Given the description of an element on the screen output the (x, y) to click on. 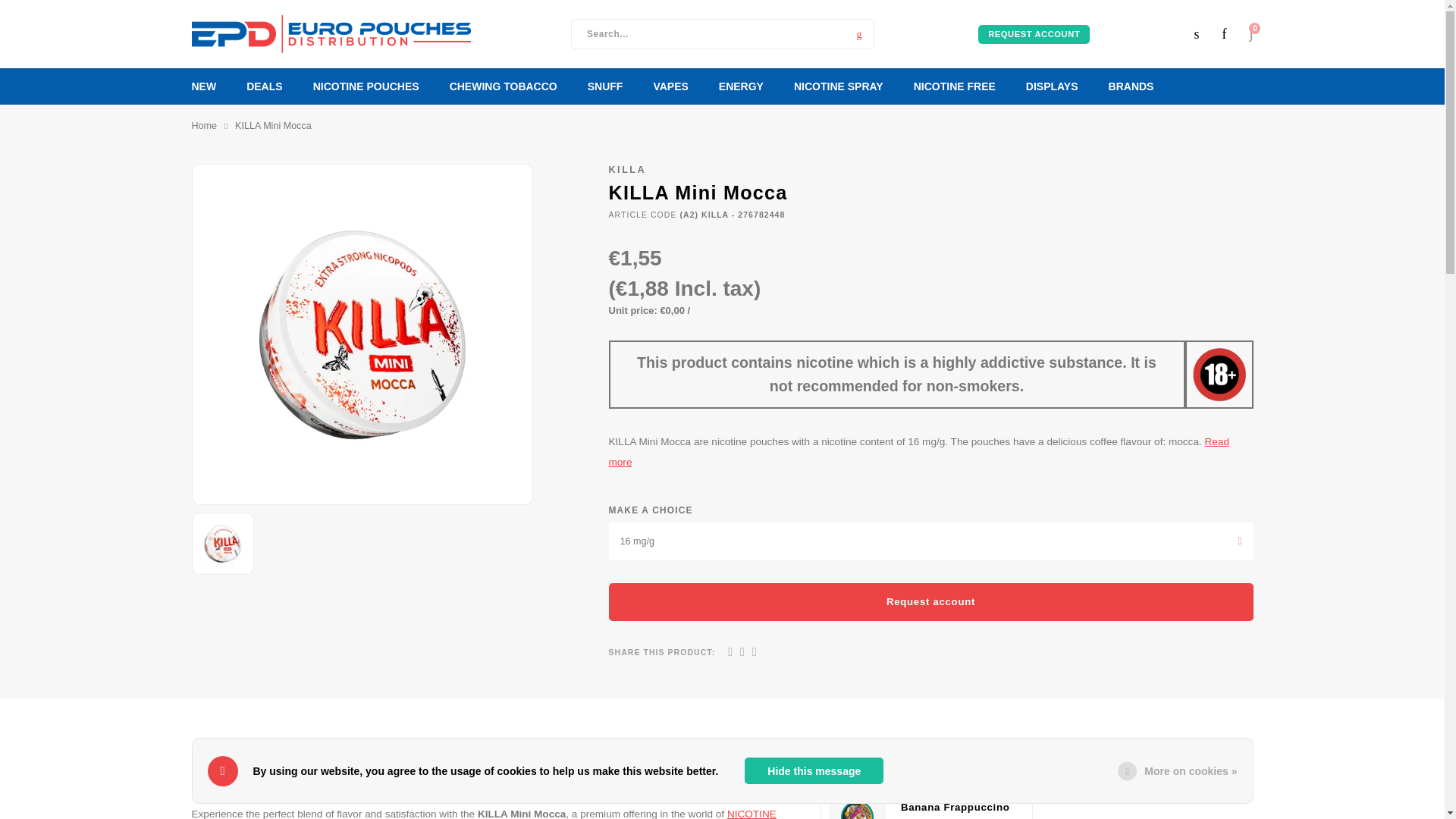
Home (203, 126)
Search (859, 33)
KILLA KILLA Mini Mocca (222, 543)
KILLA KILLA Mini Mocca (361, 334)
Request account (930, 601)
Request account (1033, 33)
